Given the description of an element on the screen output the (x, y) to click on. 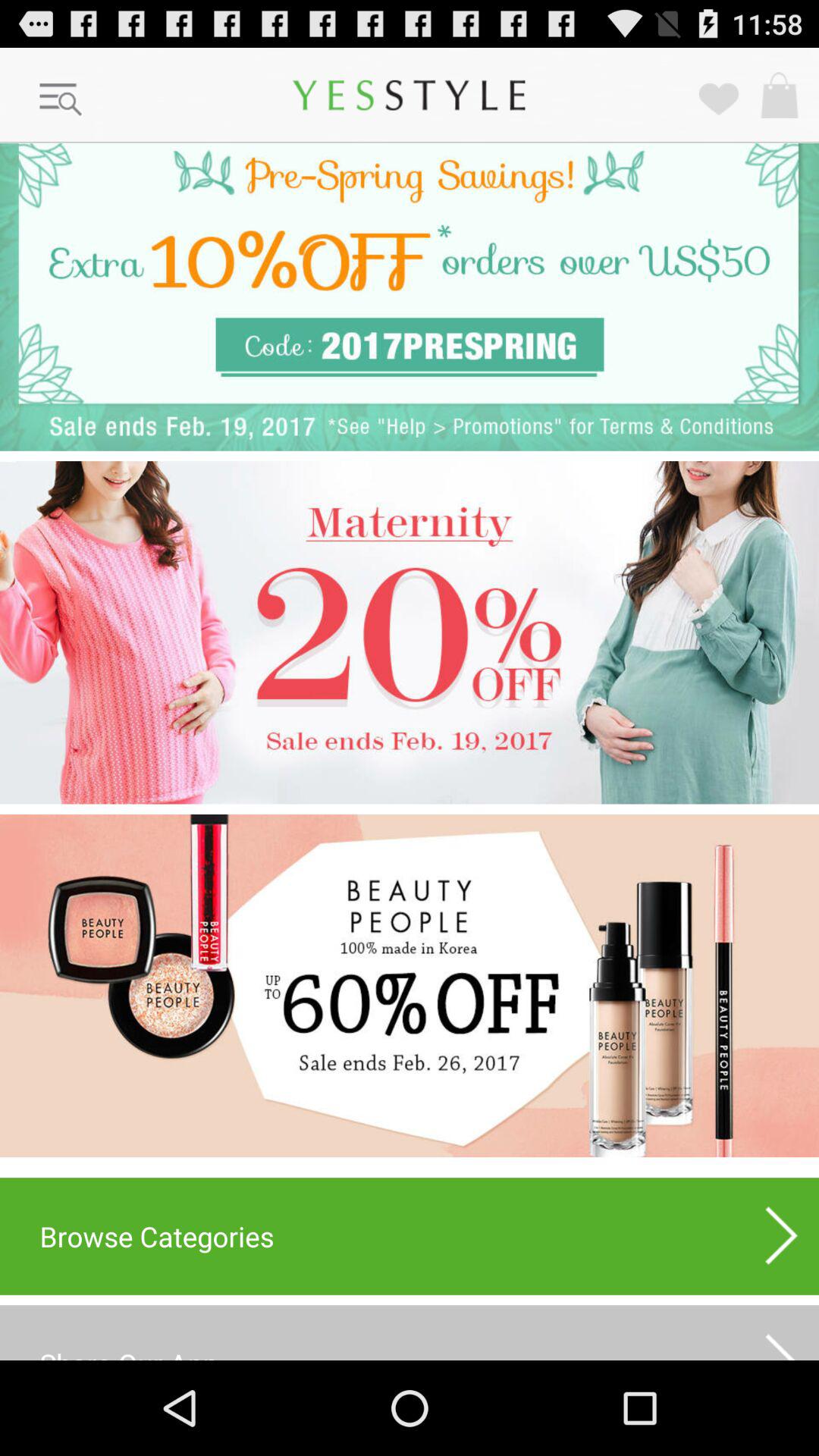
sale details (409, 985)
